Given the description of an element on the screen output the (x, y) to click on. 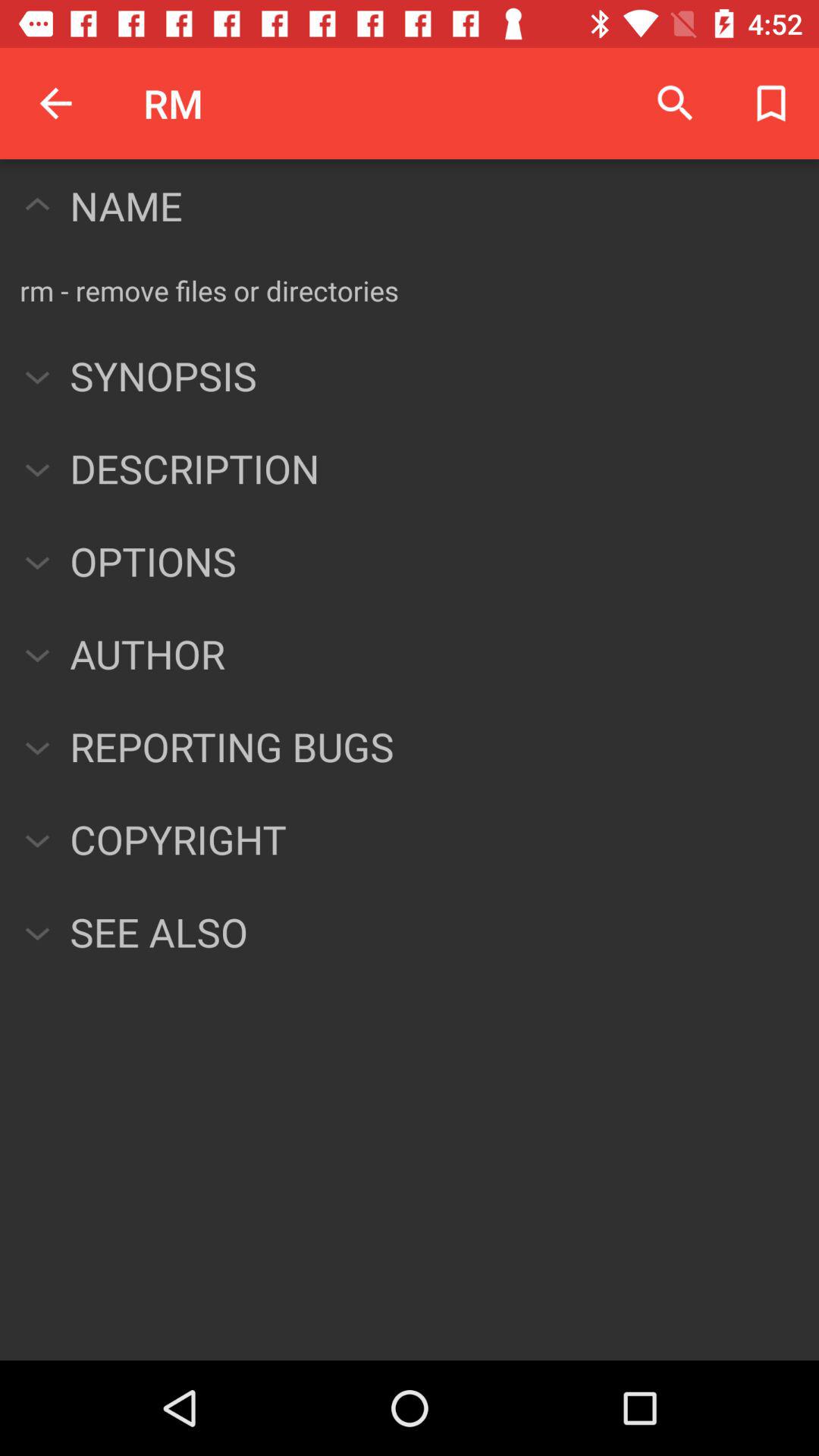
choose the rm remove files item (208, 290)
